Given the description of an element on the screen output the (x, y) to click on. 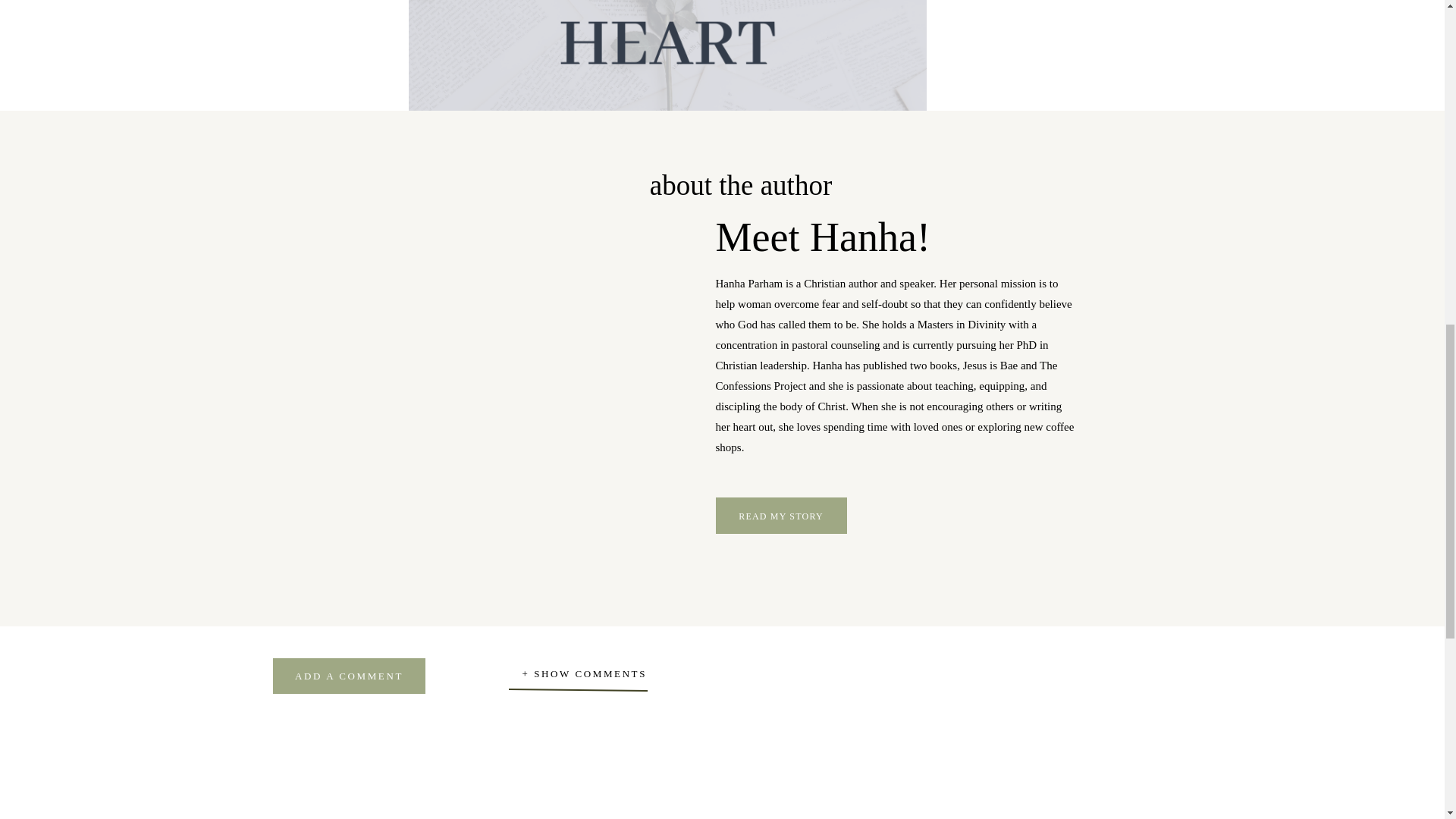
READ MY STORY (780, 515)
